Given the description of an element on the screen output the (x, y) to click on. 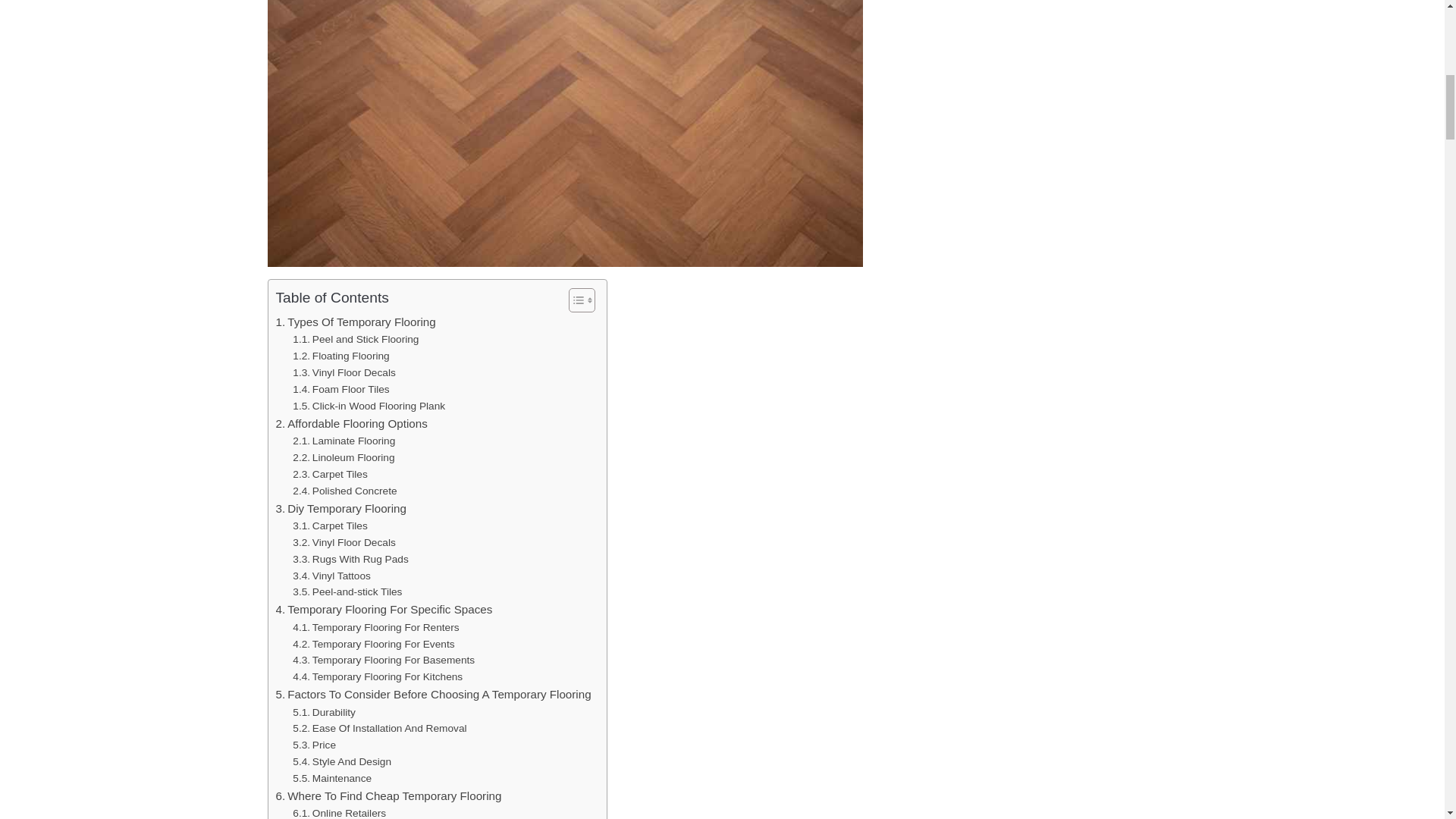
Carpet Tiles (330, 474)
Diy Temporary Flooring (341, 508)
Affordable Flooring Options (352, 423)
Click-in Wood Flooring Plank (368, 406)
Polished Concrete (344, 491)
Floating Flooring (340, 356)
Rugs With Rug Pads (349, 559)
Vinyl Tattoos (331, 576)
Peel and Stick Flooring (355, 339)
Foam Floor Tiles (340, 389)
